Given the description of an element on the screen output the (x, y) to click on. 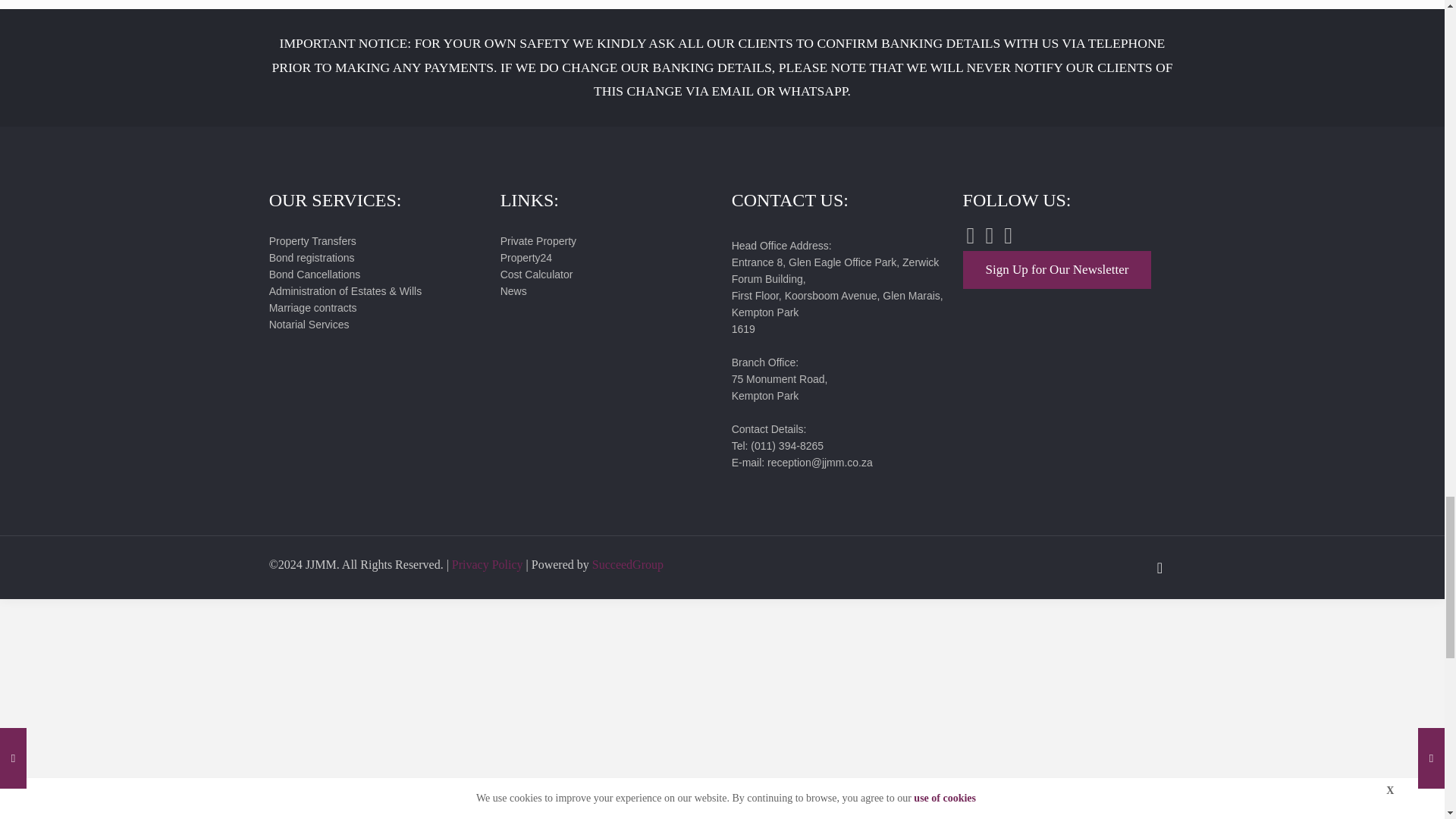
Property Transfers (312, 241)
Bond registrations (312, 257)
